Given the description of an element on the screen output the (x, y) to click on. 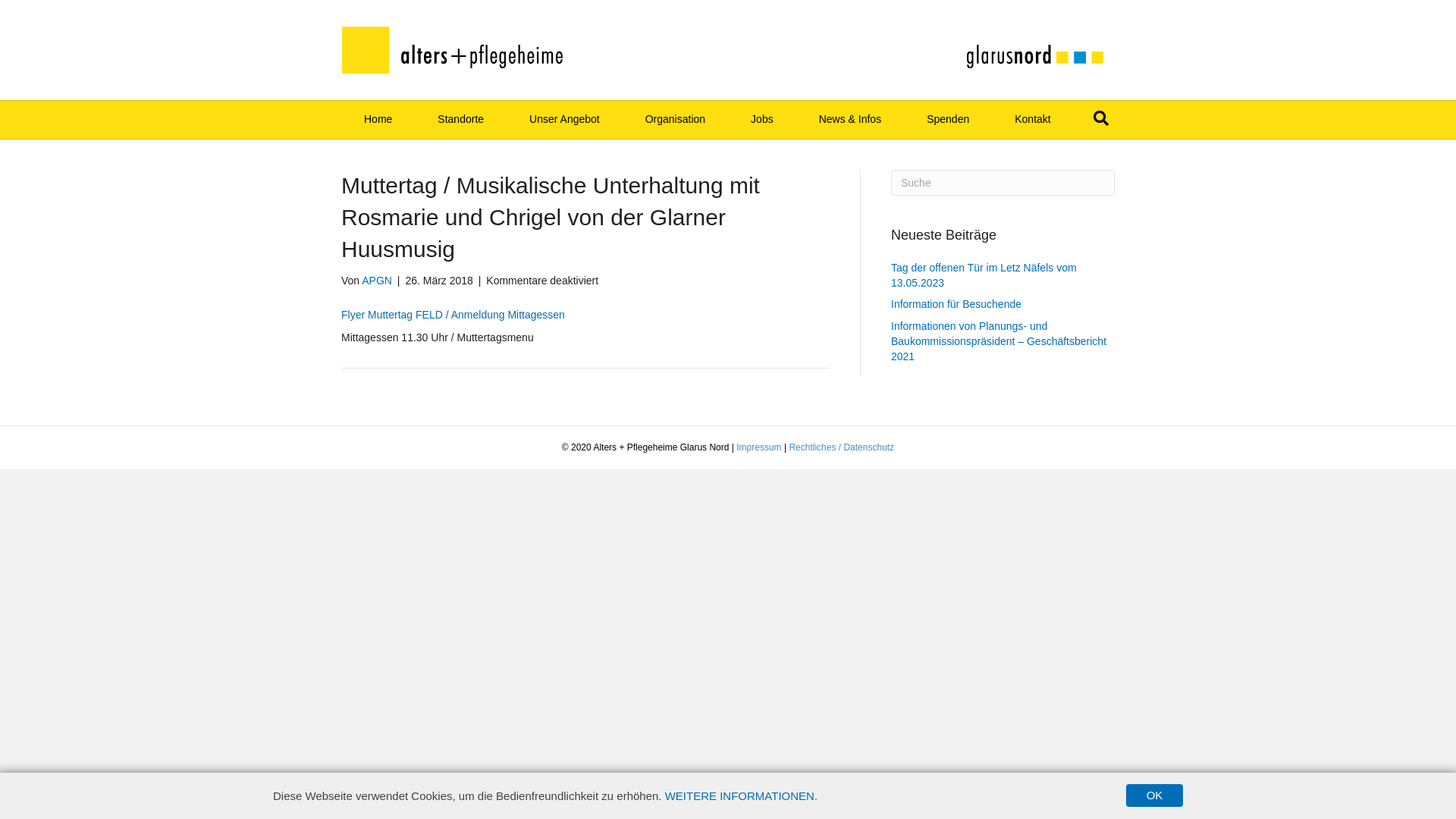
APGN Element type: text (376, 280)
WEITERE INFORMATIONEN. Element type: text (741, 794)
Home Element type: text (377, 119)
    OK     Element type: text (1154, 795)
Spenden Element type: text (947, 119)
Rechtliches / Datenschutz Element type: text (841, 447)
Standorte Element type: text (460, 119)
Impressum Element type: text (758, 447)
Suchbegriff hier eingeben ... Element type: hover (1002, 182)
Kontakt Element type: text (1032, 119)
Unser Angebot Element type: text (564, 119)
Jobs Element type: text (762, 119)
Flyer Muttertag FELD / Anmeldung Mittagessen Element type: text (452, 314)
News & Infos Element type: text (849, 119)
Organisation Element type: text (675, 119)
